Given the description of an element on the screen output the (x, y) to click on. 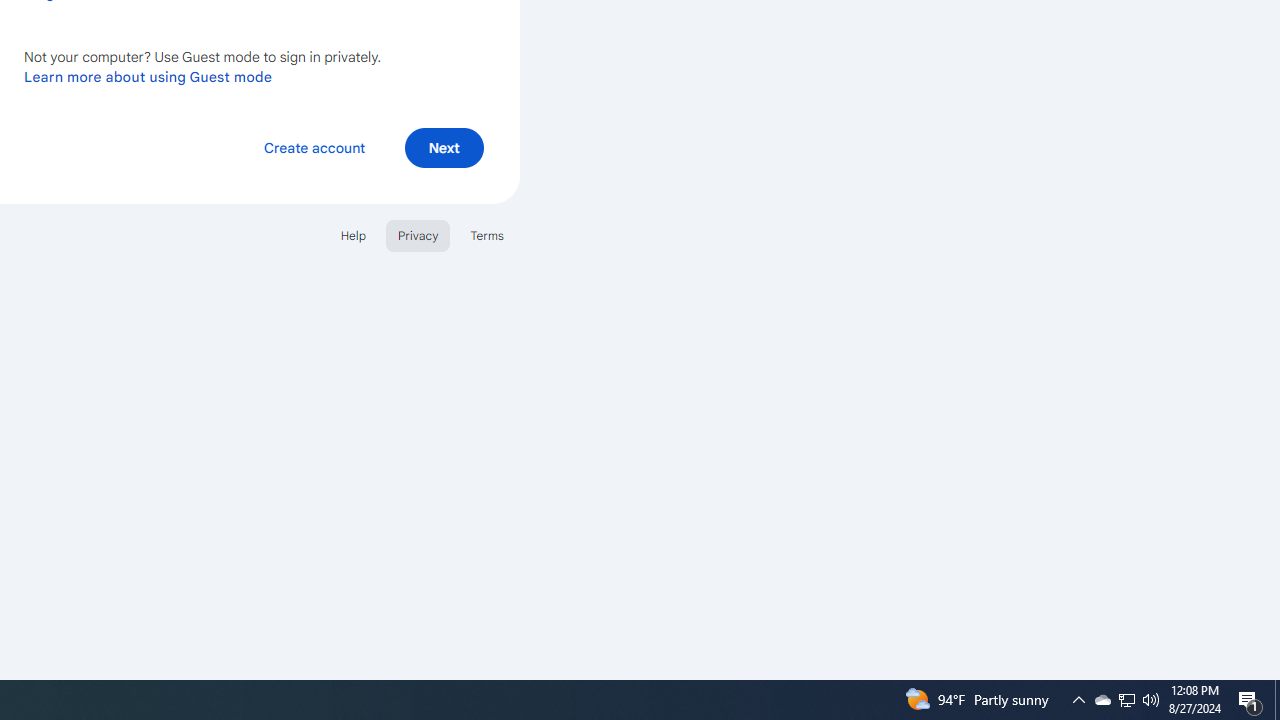
Terms (486, 234)
Learn more about using Guest mode (148, 76)
Next (443, 146)
Create account (314, 146)
Help (352, 234)
Privacy (417, 234)
